Given the description of an element on the screen output the (x, y) to click on. 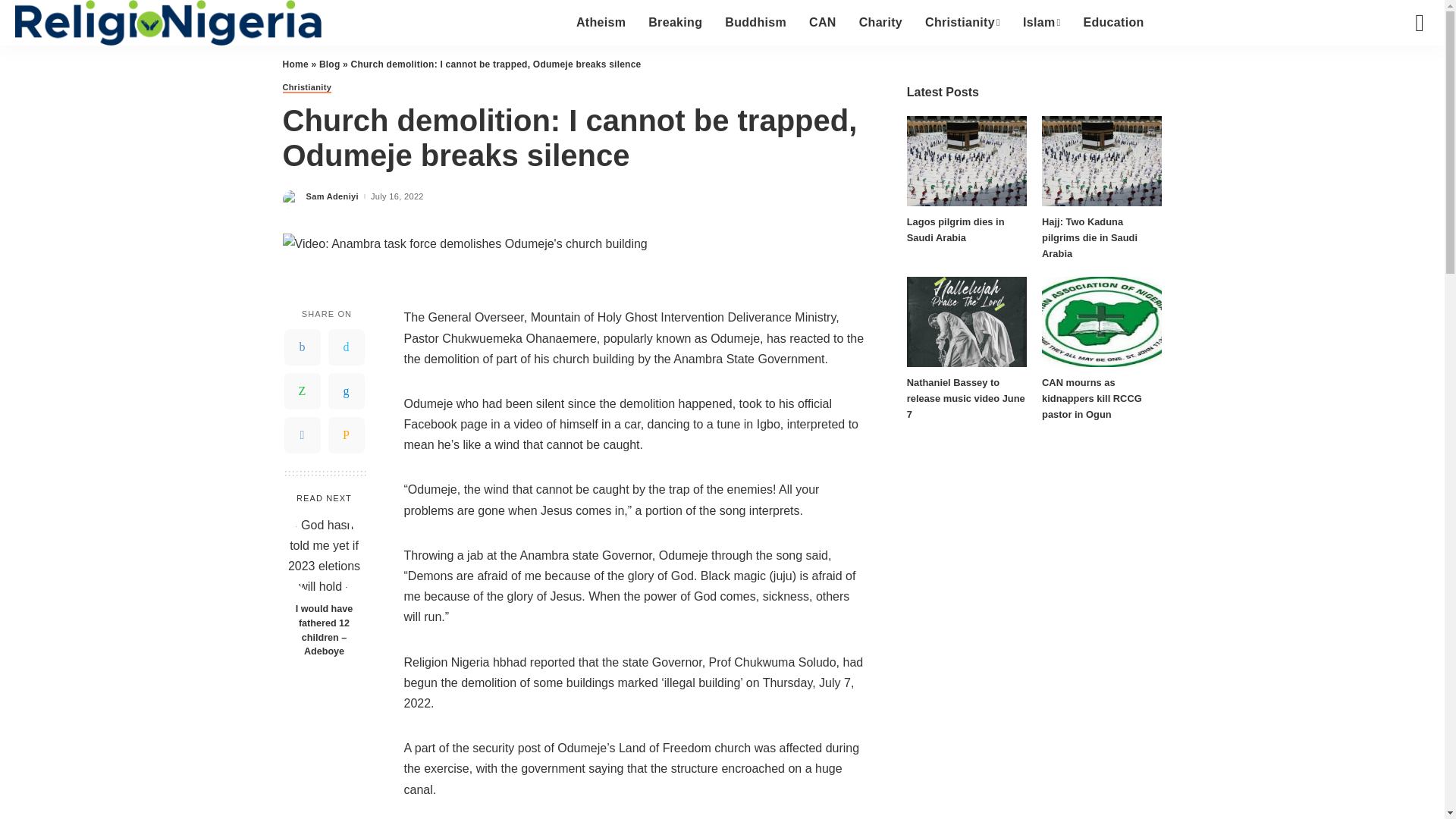
Buddhism (755, 22)
Breaking (675, 22)
Religion Nigeria (167, 22)
CAN (822, 22)
Atheism (600, 22)
Charity (880, 22)
